Given the description of an element on the screen output the (x, y) to click on. 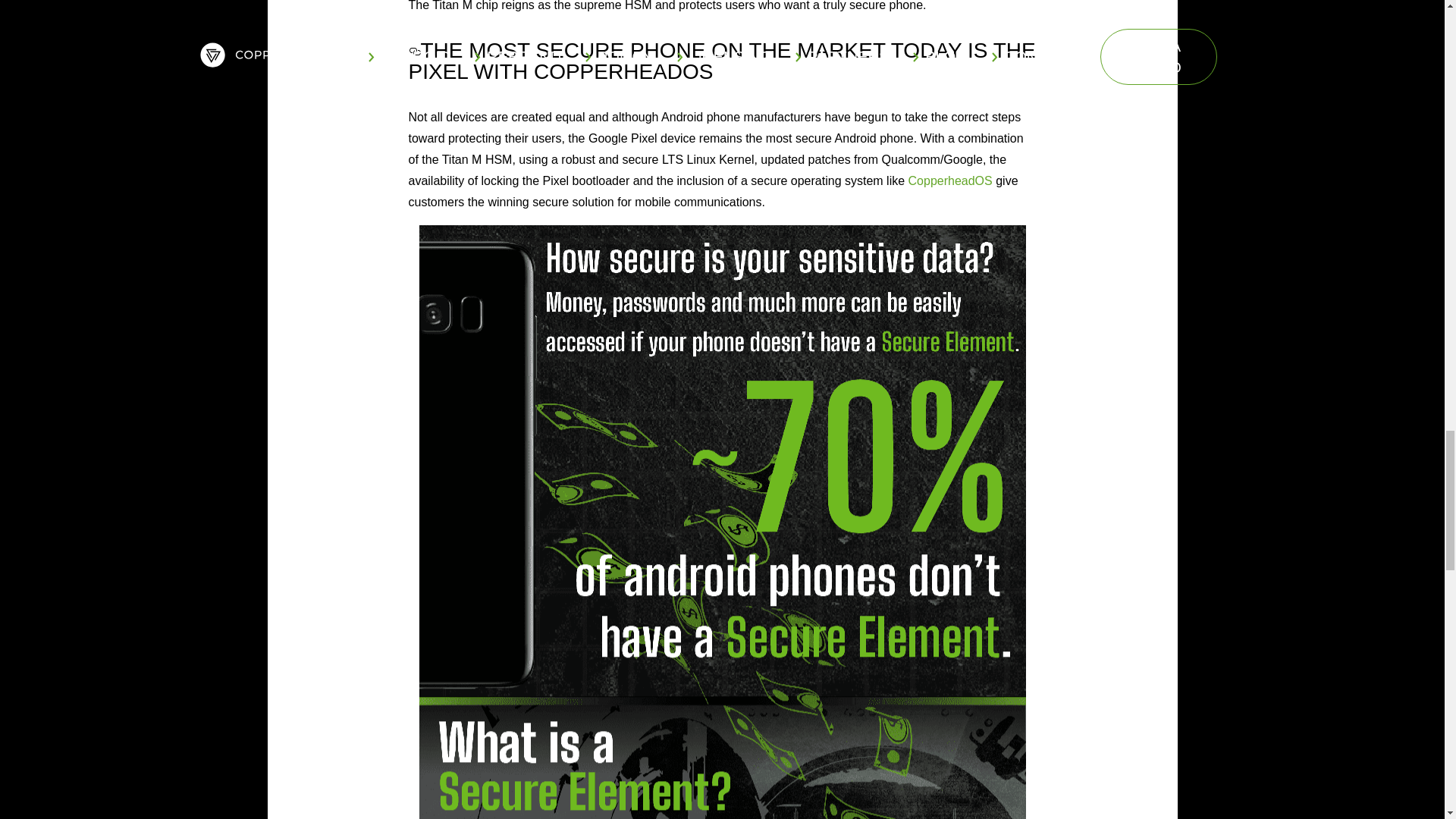
CopperheadOS (950, 180)
